Given the description of an element on the screen output the (x, y) to click on. 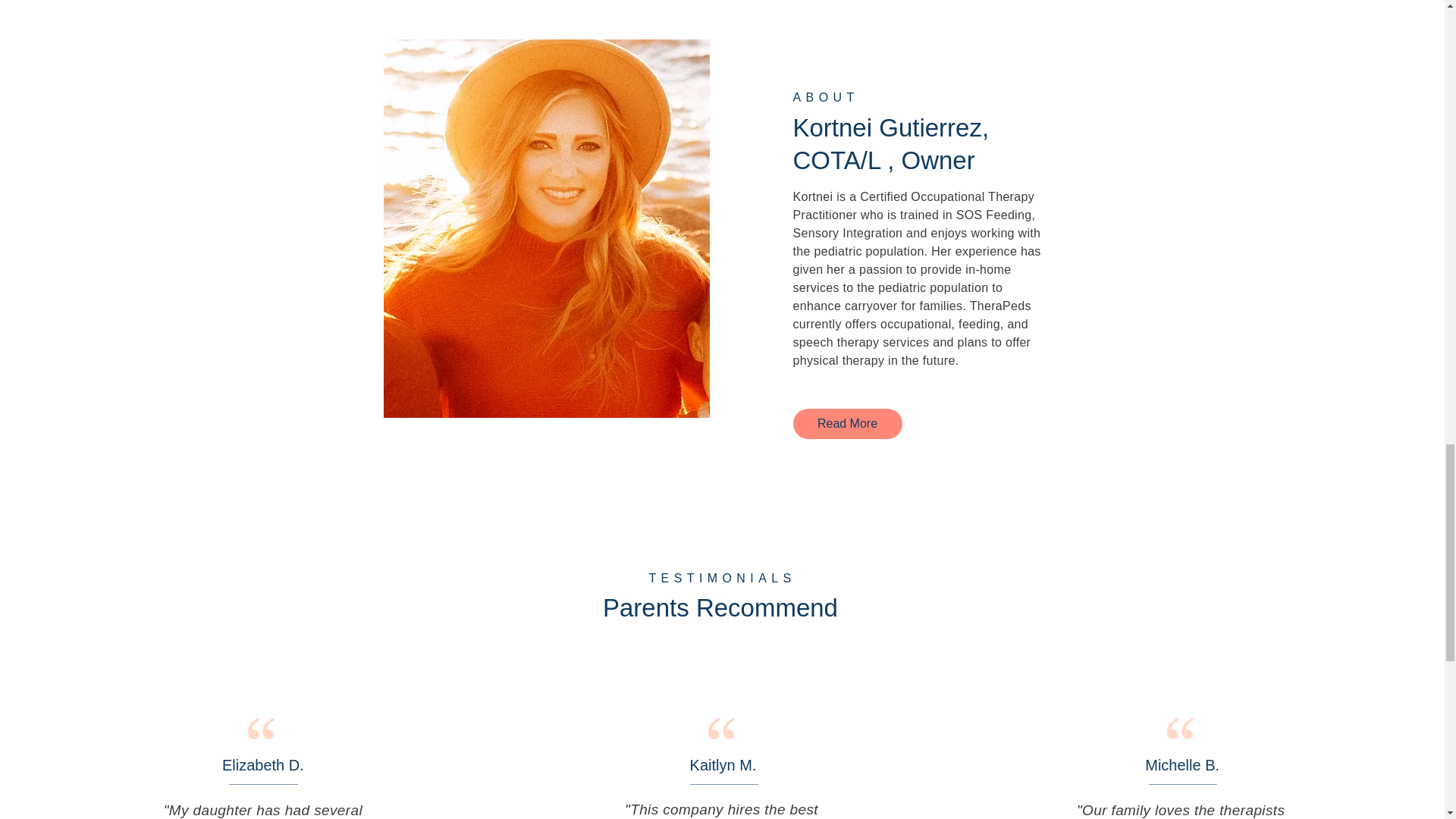
Read More (847, 423)
